Given the description of an element on the screen output the (x, y) to click on. 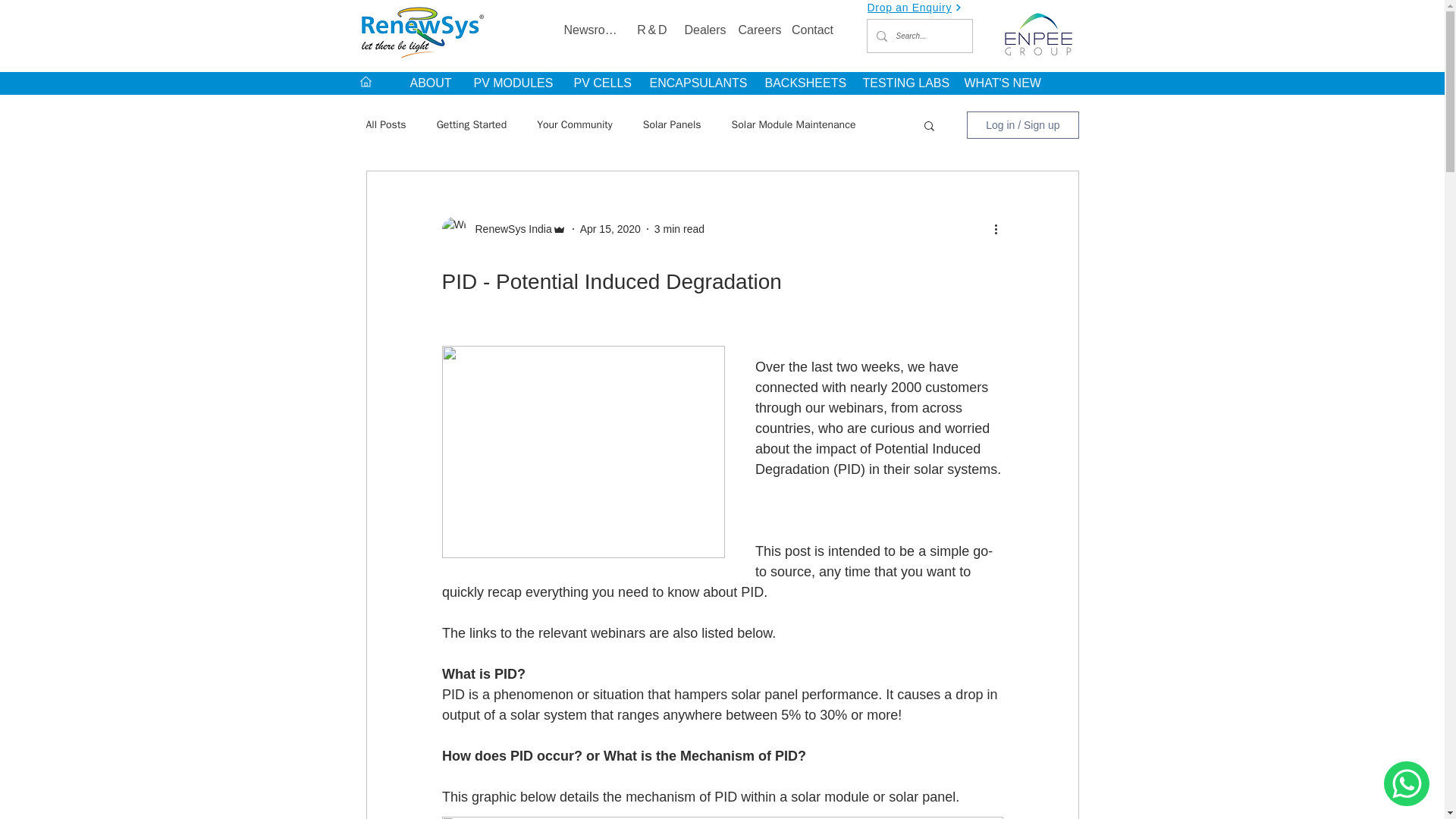
ABOUT (429, 83)
Newsroom (592, 29)
BACKSHEETS (801, 83)
PV MODULES (510, 83)
Contact (812, 29)
Getting Started (471, 124)
Apr 15, 2020 (609, 228)
Your Community (574, 124)
3 min read (678, 228)
ENCAPSULANTS (694, 83)
